Given the description of an element on the screen output the (x, y) to click on. 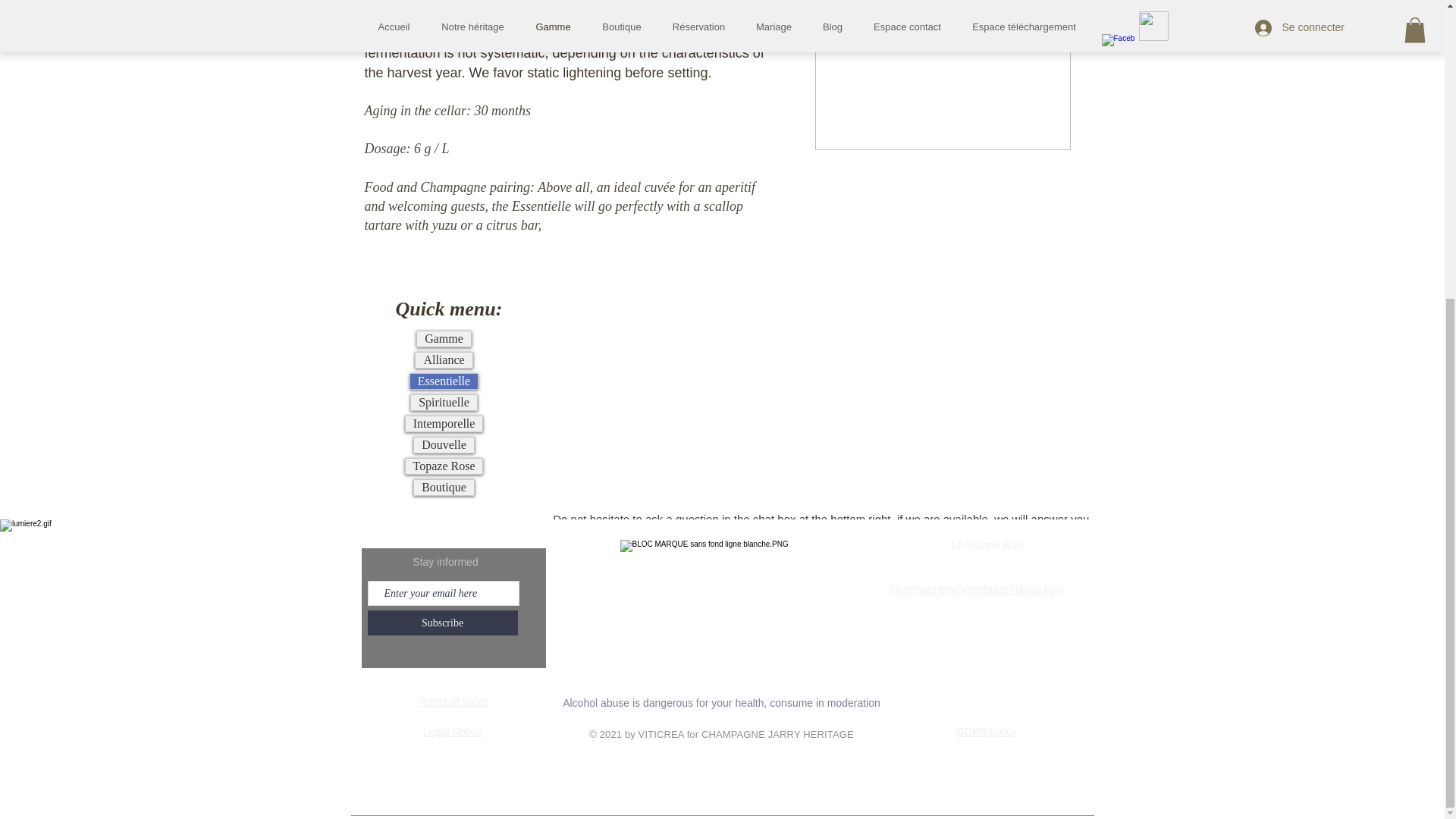
Gamme (443, 338)
Spirituelle (443, 402)
Topaze Rose (444, 466)
Intemporelle (444, 423)
Essentielle (443, 381)
Boutique (443, 487)
Douvelle (443, 444)
GDPR policy (986, 731)
Alliance (442, 359)
Subscribe (441, 622)
Legal Notice (452, 731)
Terms of Sales (454, 701)
